Given the description of an element on the screen output the (x, y) to click on. 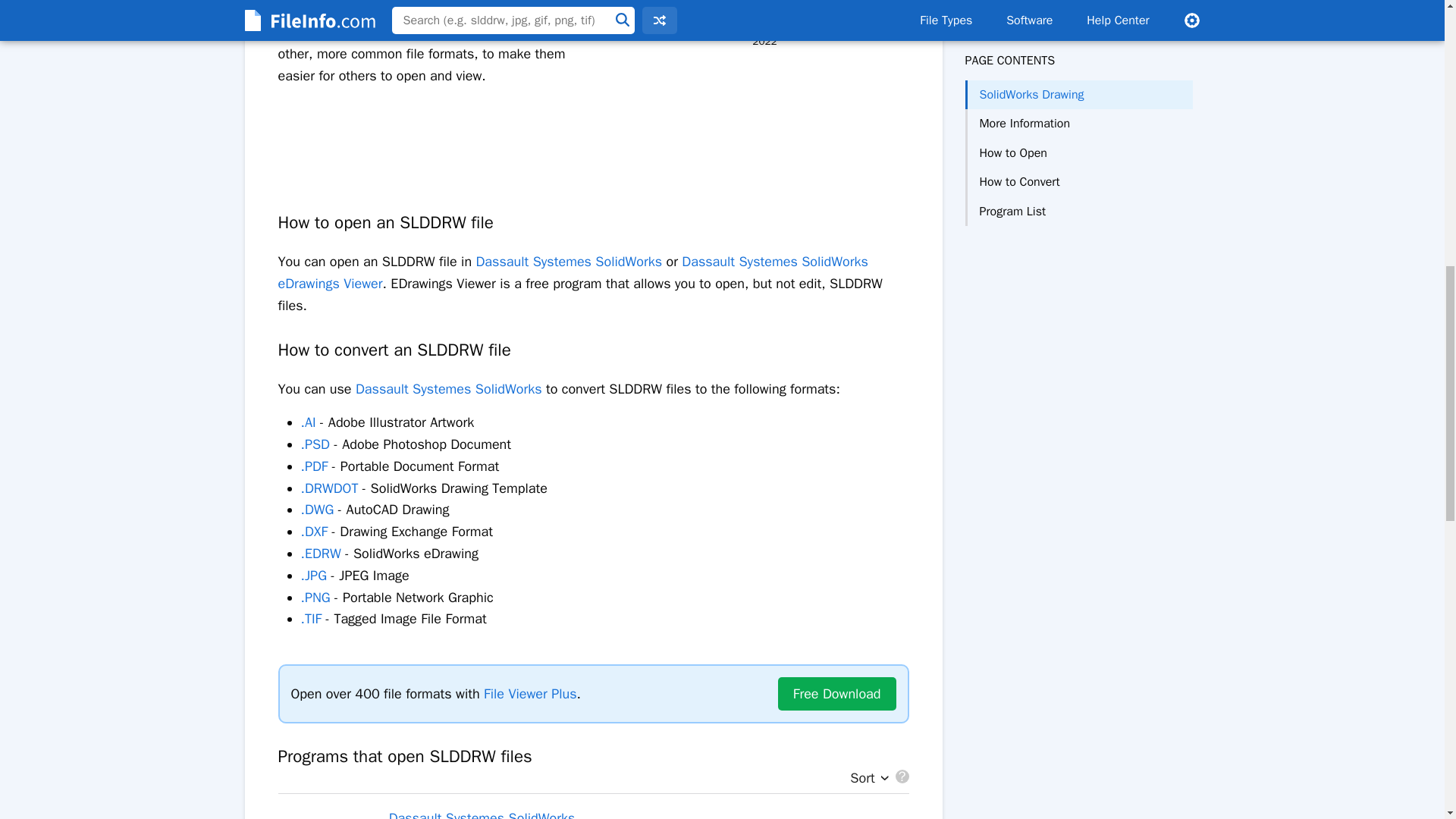
.EDRW (319, 553)
Dassault Systemes SolidWorks (569, 261)
.PNG (314, 597)
.DWG (316, 509)
.PSD (314, 443)
.JPG (312, 575)
Dassault Systemes SolidWorks (448, 388)
SLDDRW File Screenshot (764, 6)
.AI (307, 422)
.TIF (310, 618)
.DXF (313, 531)
.DRWDOT (328, 487)
Dassault Systemes SolidWorks eDrawings Viewer (572, 272)
Sort (865, 778)
